Given the description of an element on the screen output the (x, y) to click on. 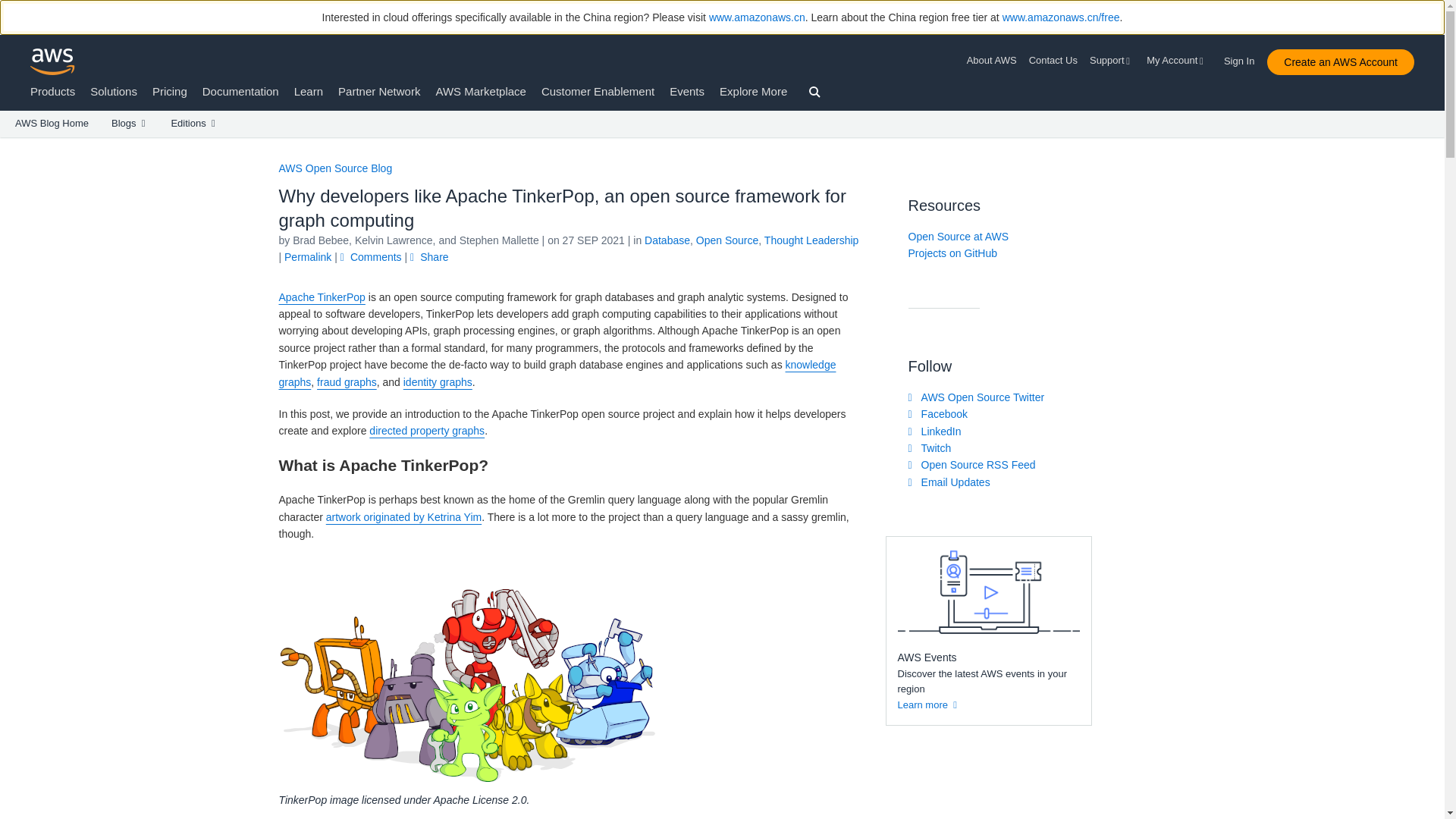
Pricing (169, 91)
Skip to Main Content (7, 143)
Documentation (240, 91)
Products (52, 91)
Sign In (1243, 58)
View all posts in Thought Leadership (811, 240)
About AWS (994, 60)
Events (686, 91)
www.amazonaws.cn (757, 17)
My Account  (1177, 60)
